Given the description of an element on the screen output the (x, y) to click on. 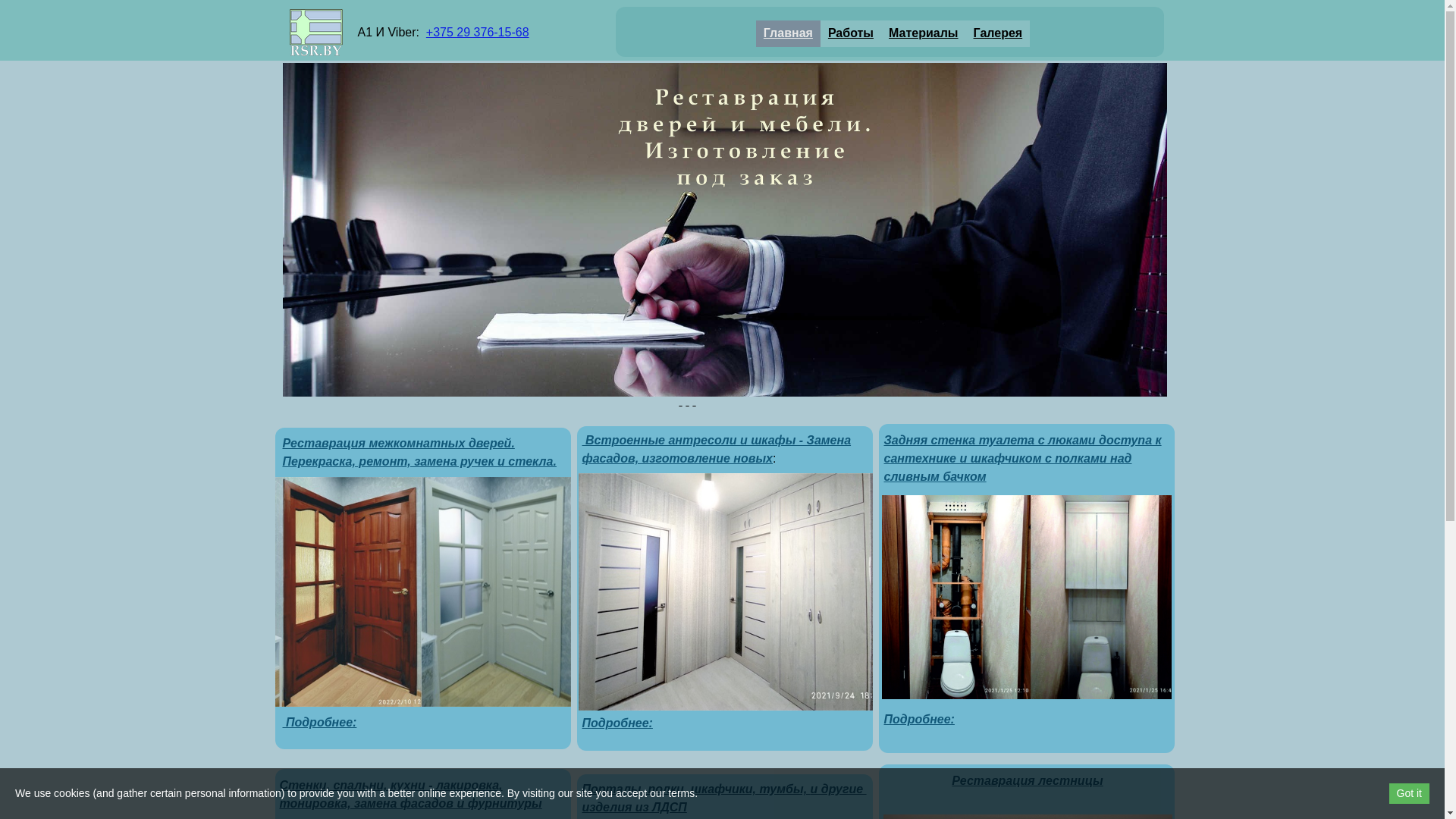
+375 29 376-15-68 Element type: text (477, 31)
Got it Element type: text (1409, 793)
